Given the description of an element on the screen output the (x, y) to click on. 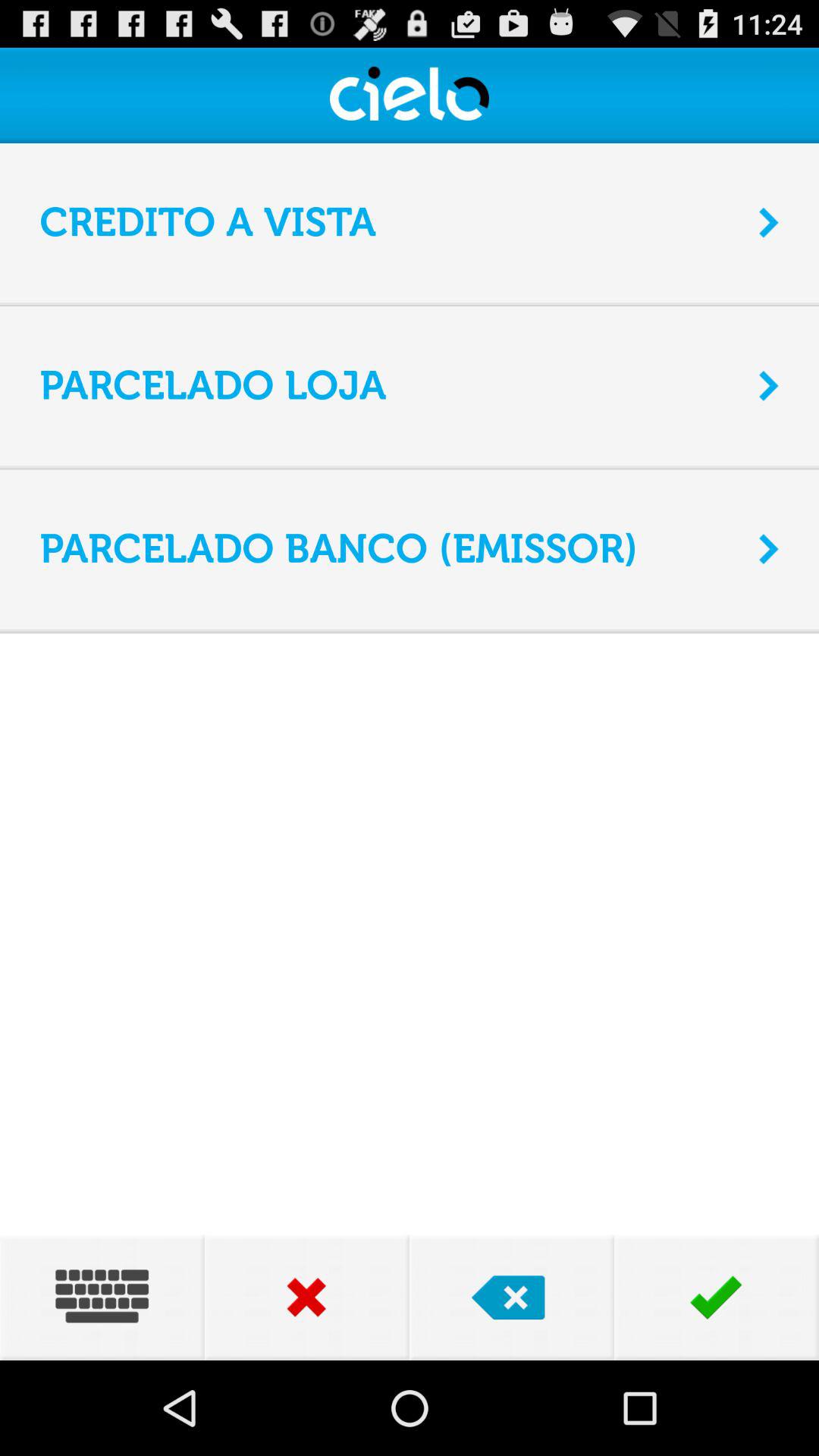
turn on app above parcelado loja app (409, 305)
